Given the description of an element on the screen output the (x, y) to click on. 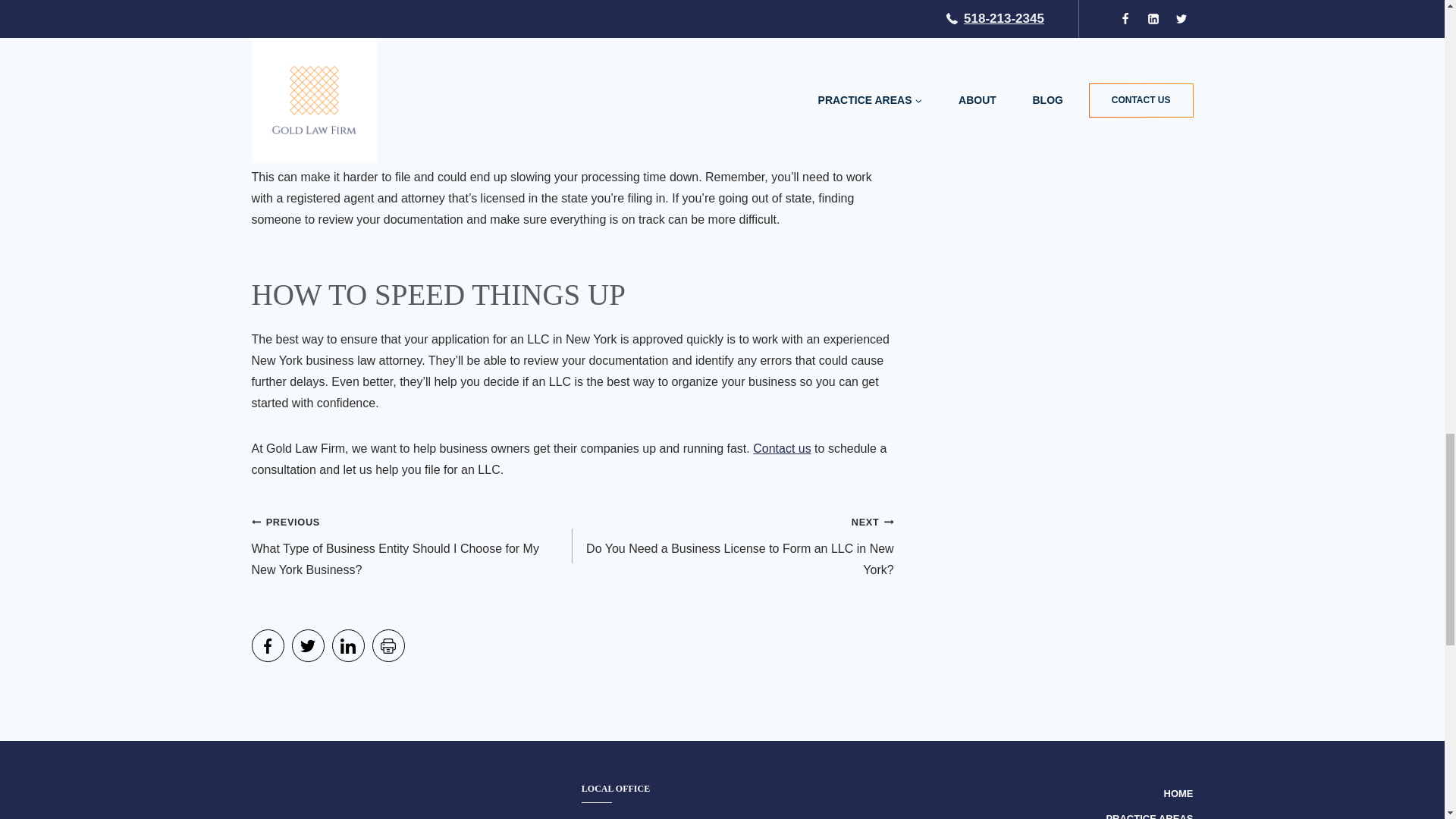
Share in Twitter (307, 645)
Contact us (781, 448)
HOME (1177, 794)
Share in Facebook (267, 645)
PRACTICE AREAS (1148, 812)
Share in LinkedIn (348, 645)
Print the page (387, 645)
